Given the description of an element on the screen output the (x, y) to click on. 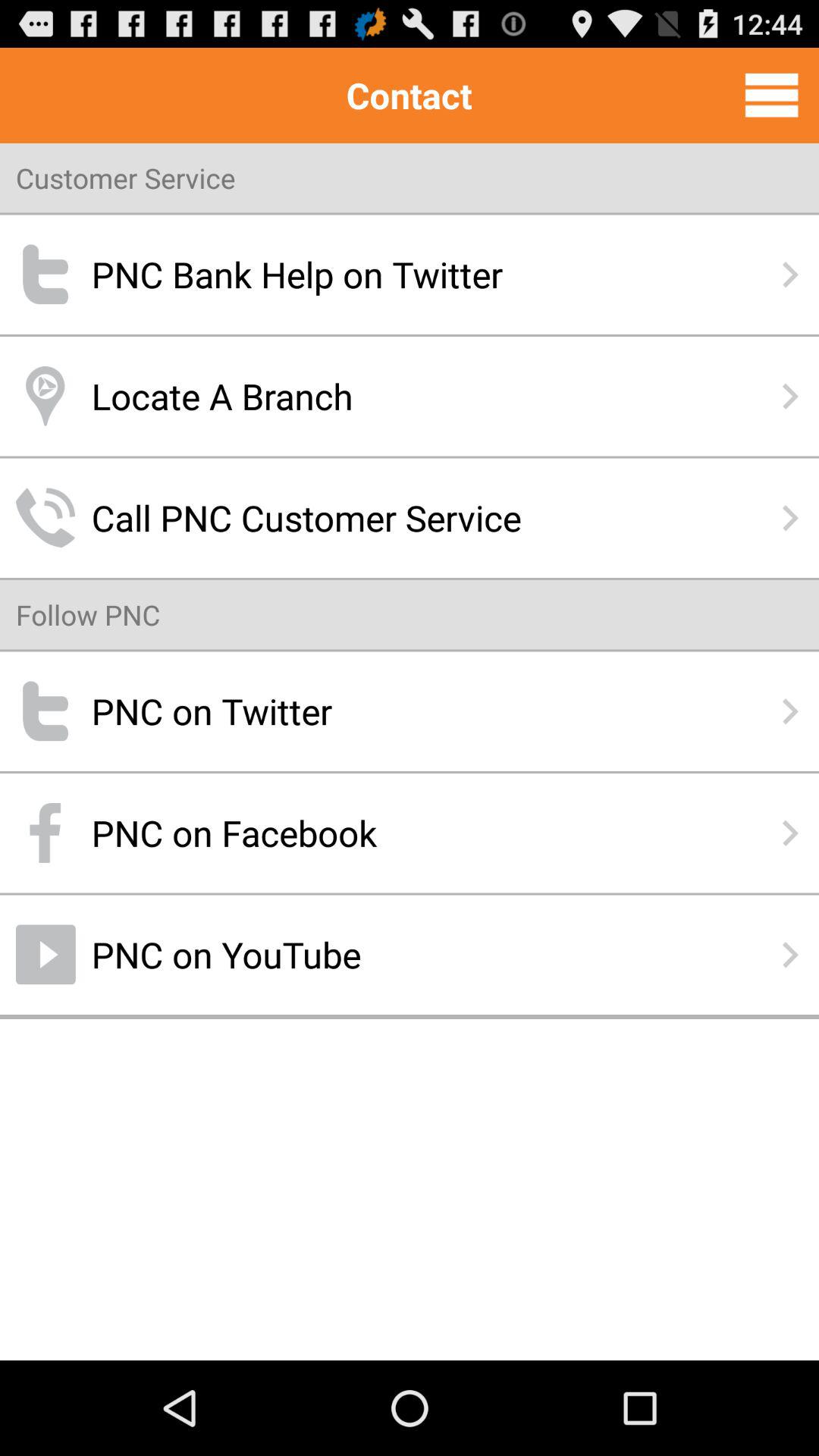
launch the icon below the pnc bank help item (409, 396)
